Given the description of an element on the screen output the (x, y) to click on. 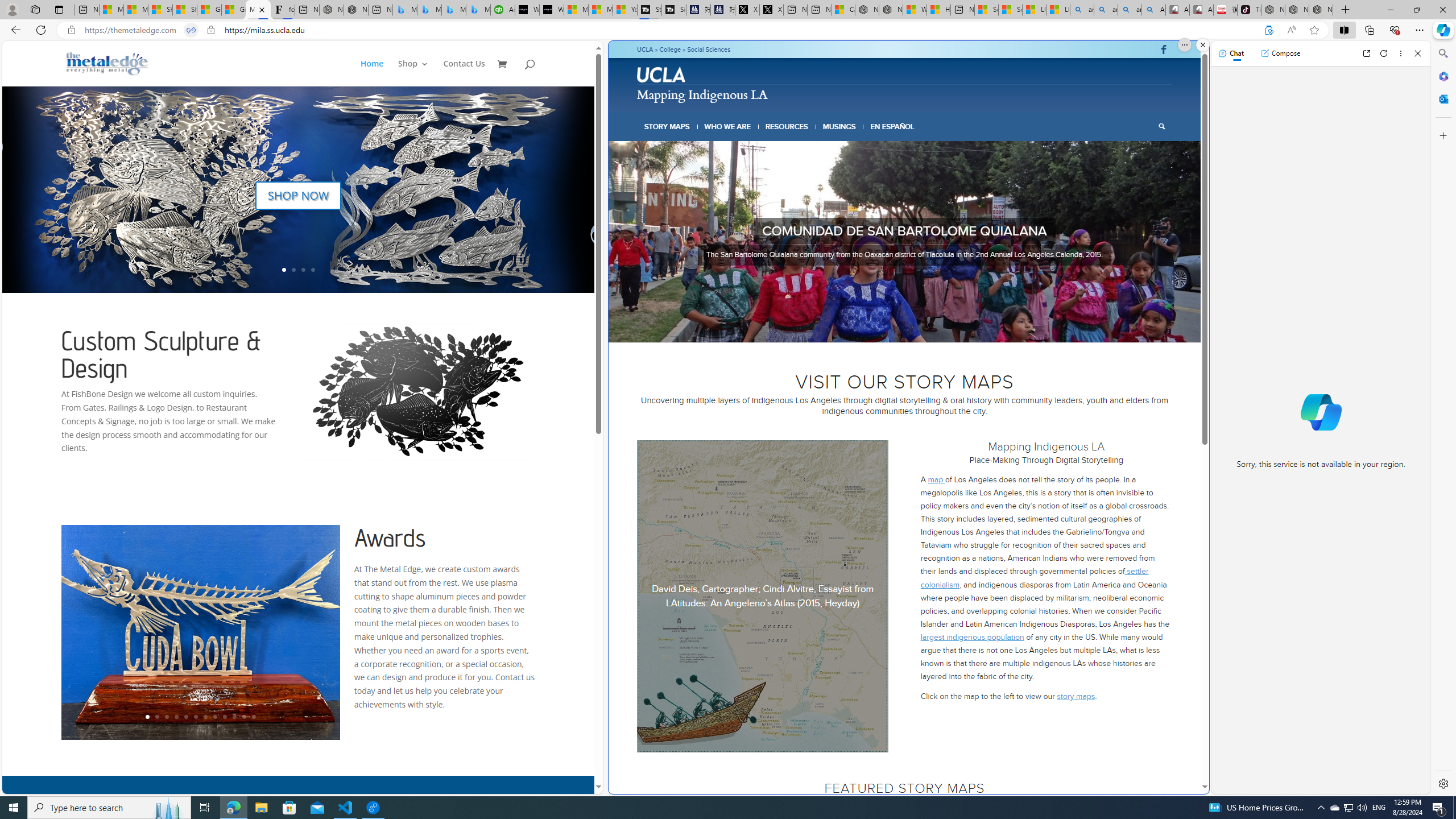
story maps (1075, 696)
Link to Facebook (1163, 49)
9 (224, 716)
STORY MAPS (667, 126)
Social Sciences (708, 49)
1 (871, 328)
